Given the description of an element on the screen output the (x, y) to click on. 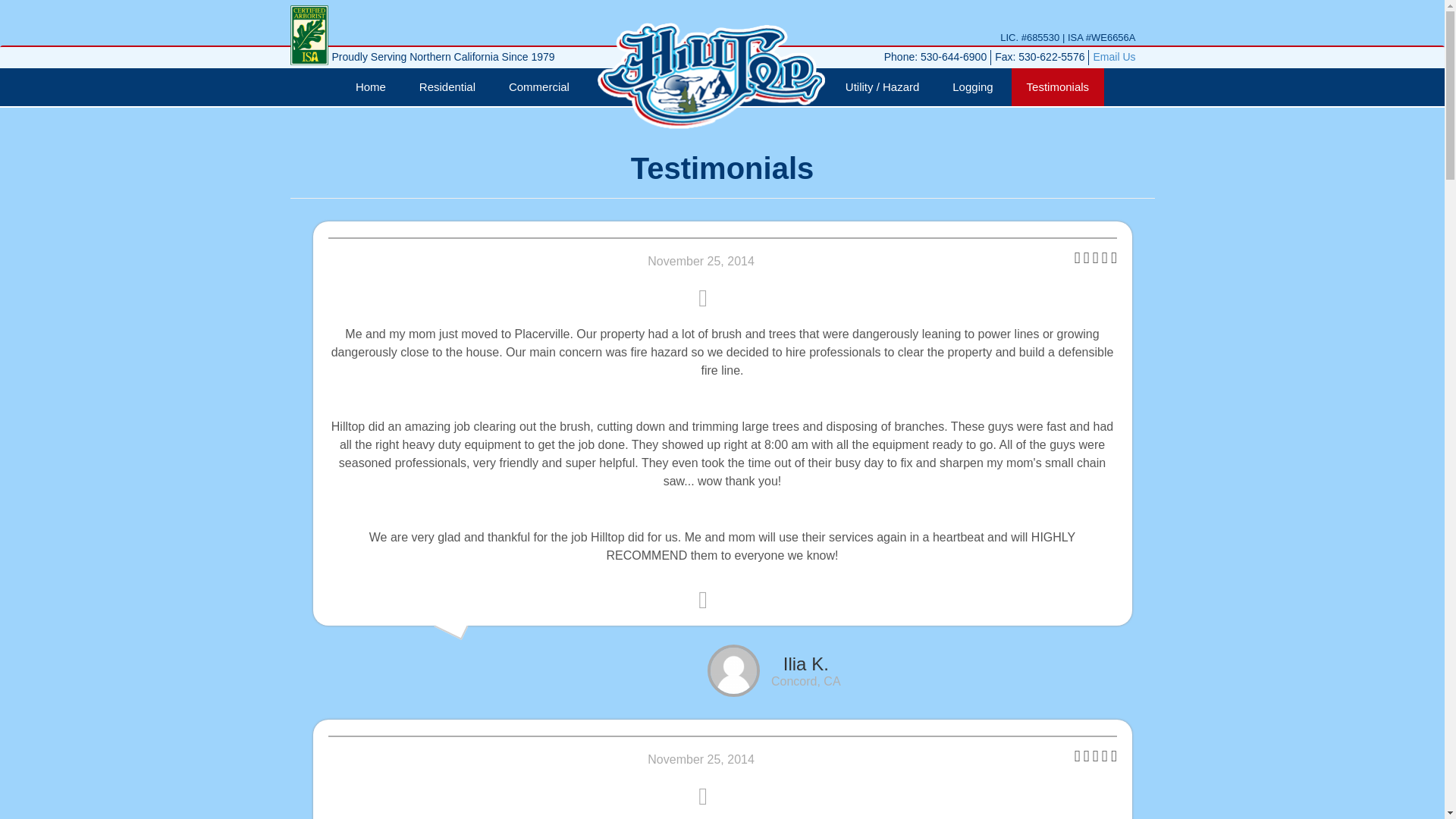
Email Us (1114, 56)
Residential (447, 86)
Logging (972, 86)
Commercial (539, 86)
Testimonials (1058, 86)
Hilltop Tree Service (710, 75)
Home (370, 86)
